Given the description of an element on the screen output the (x, y) to click on. 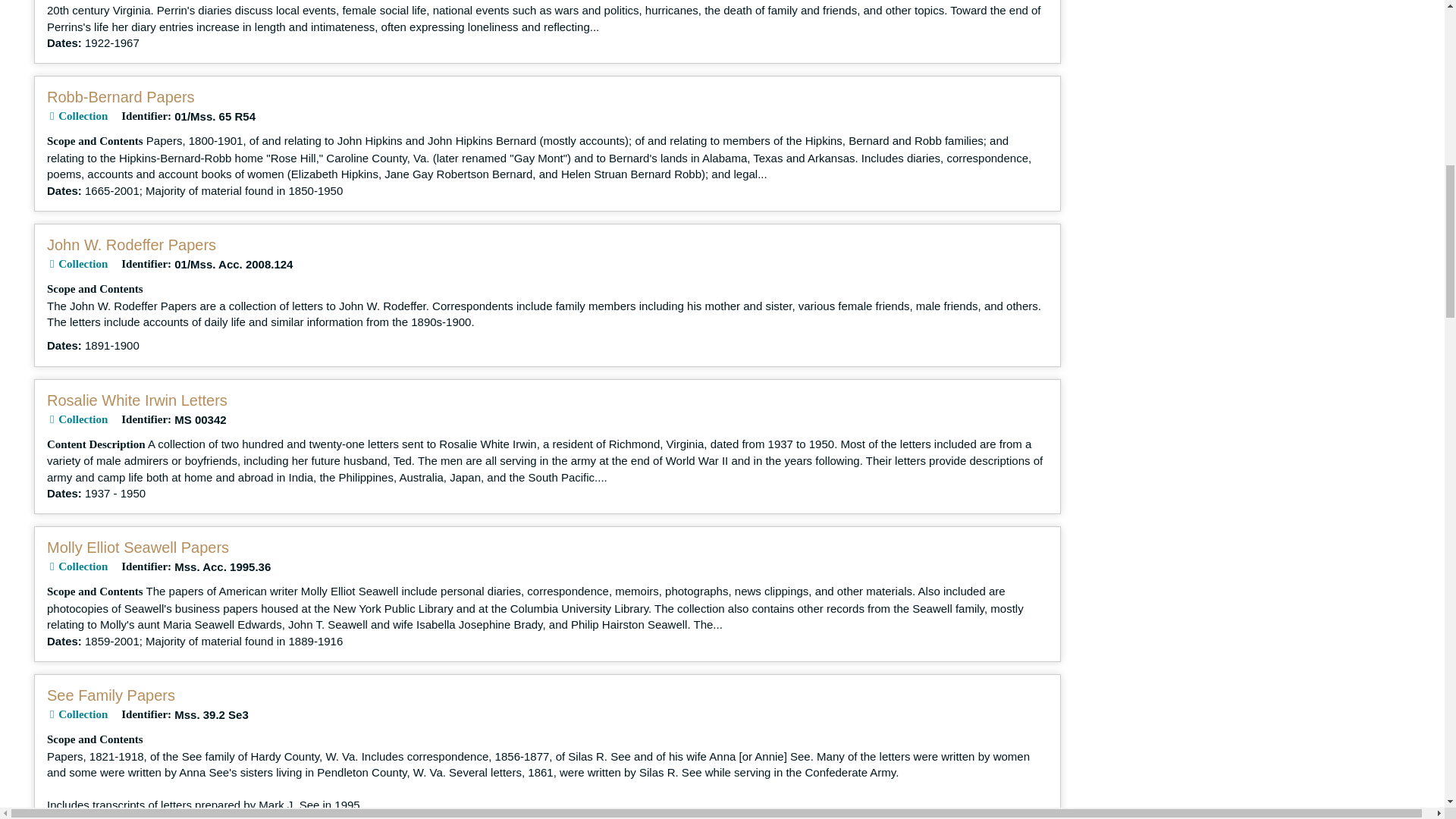
Rosalie White Irwin Letters (136, 400)
See Family Papers (110, 695)
Molly Elliot Seawell Papers (137, 547)
John W. Rodeffer Papers (130, 244)
Robb-Bernard Papers (120, 96)
